Given the description of an element on the screen output the (x, y) to click on. 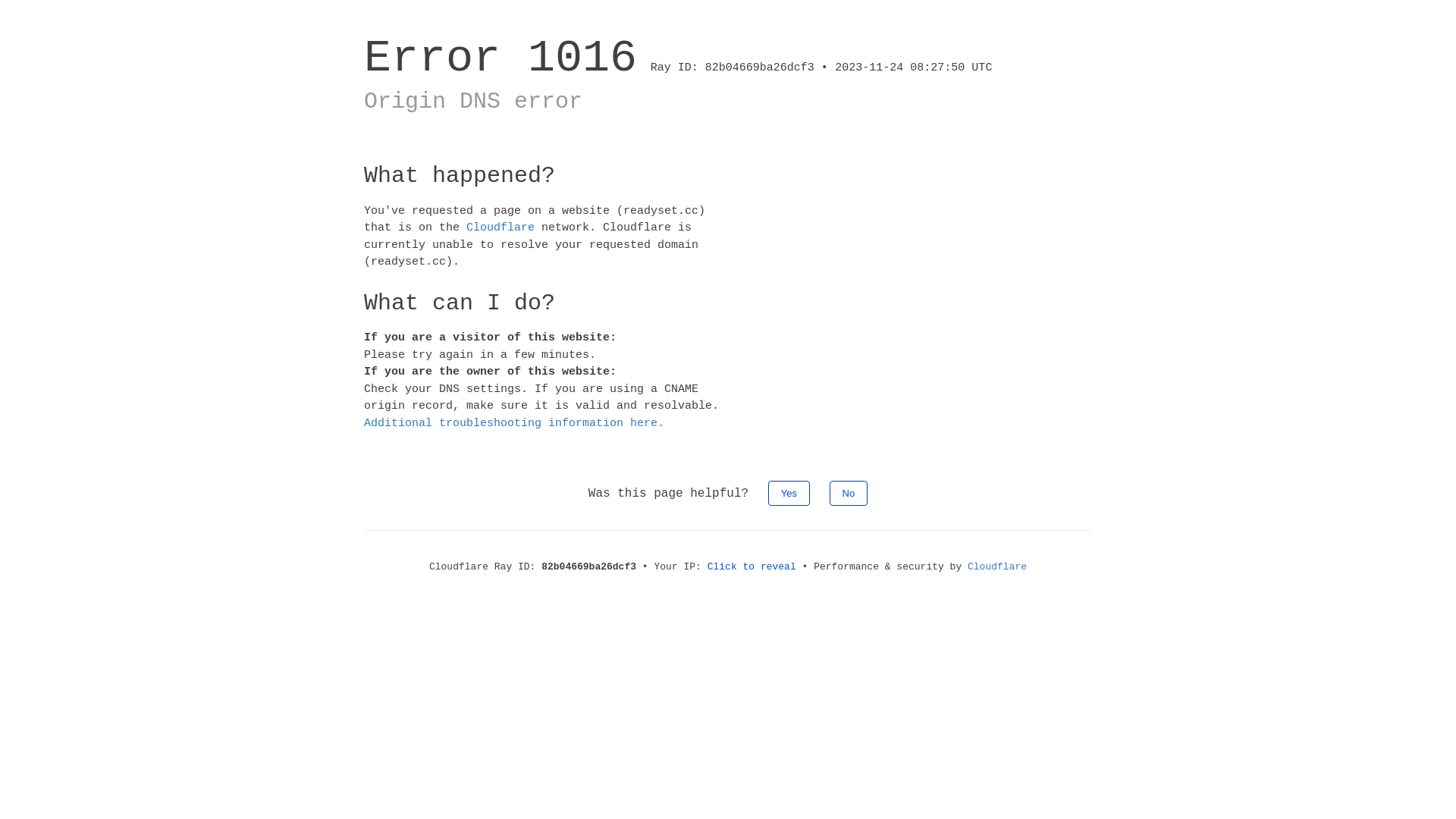
Yes Element type: text (788, 492)
Cloudflare Element type: text (996, 566)
No Element type: text (848, 492)
Cloudflare Element type: text (500, 227)
Additional troubleshooting information here. Element type: text (514, 423)
Click to reveal Element type: text (751, 566)
